Given the description of an element on the screen output the (x, y) to click on. 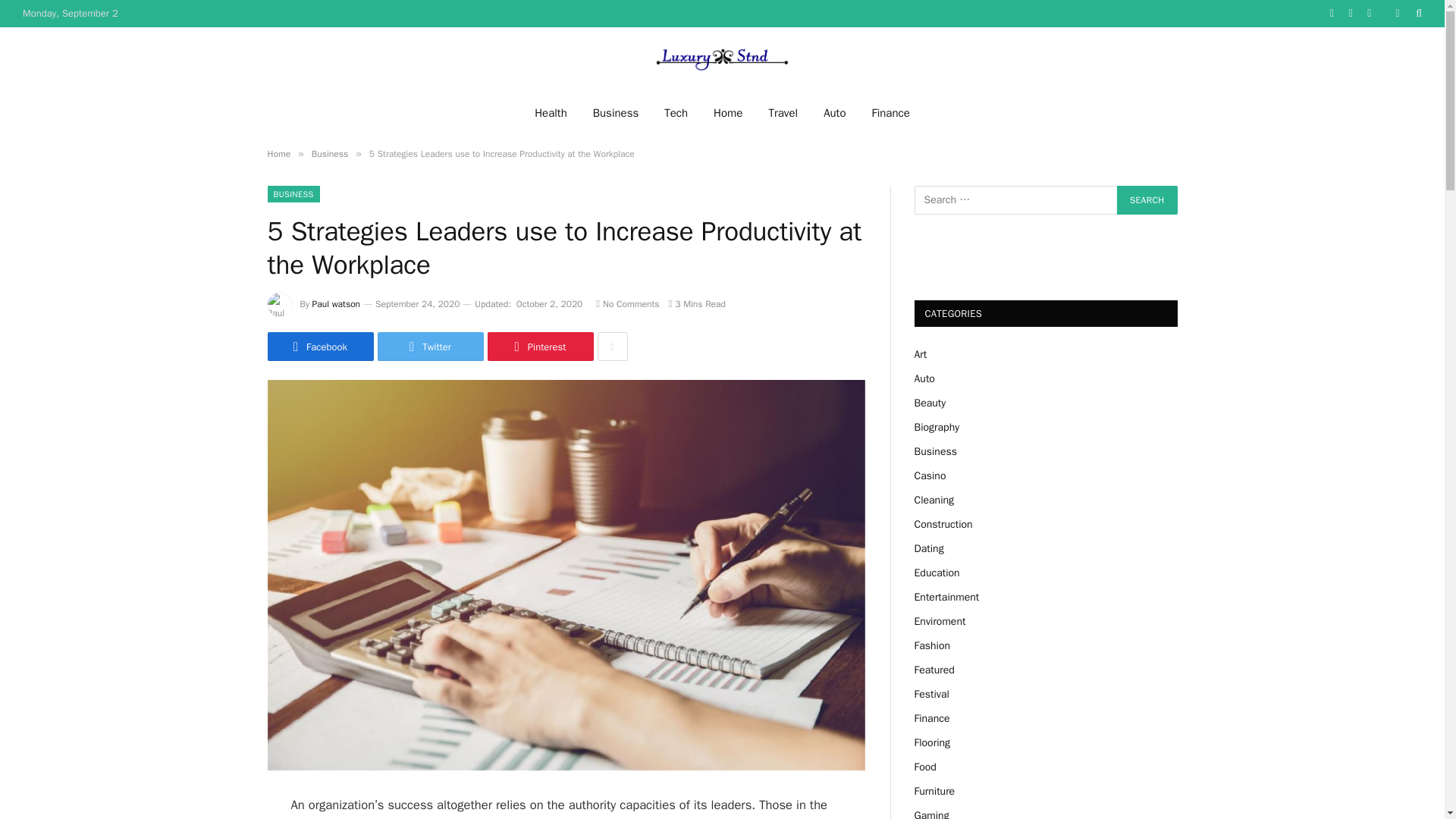
Business (329, 153)
Show More Social Sharing (611, 346)
Switch to Dark Design - easier on eyes. (1397, 13)
Posts by Paul watson (337, 304)
Share on Pinterest (539, 346)
Search (1146, 199)
No Comments (627, 304)
Twitter (430, 346)
Travel (782, 112)
Finance (890, 112)
